Given the description of an element on the screen output the (x, y) to click on. 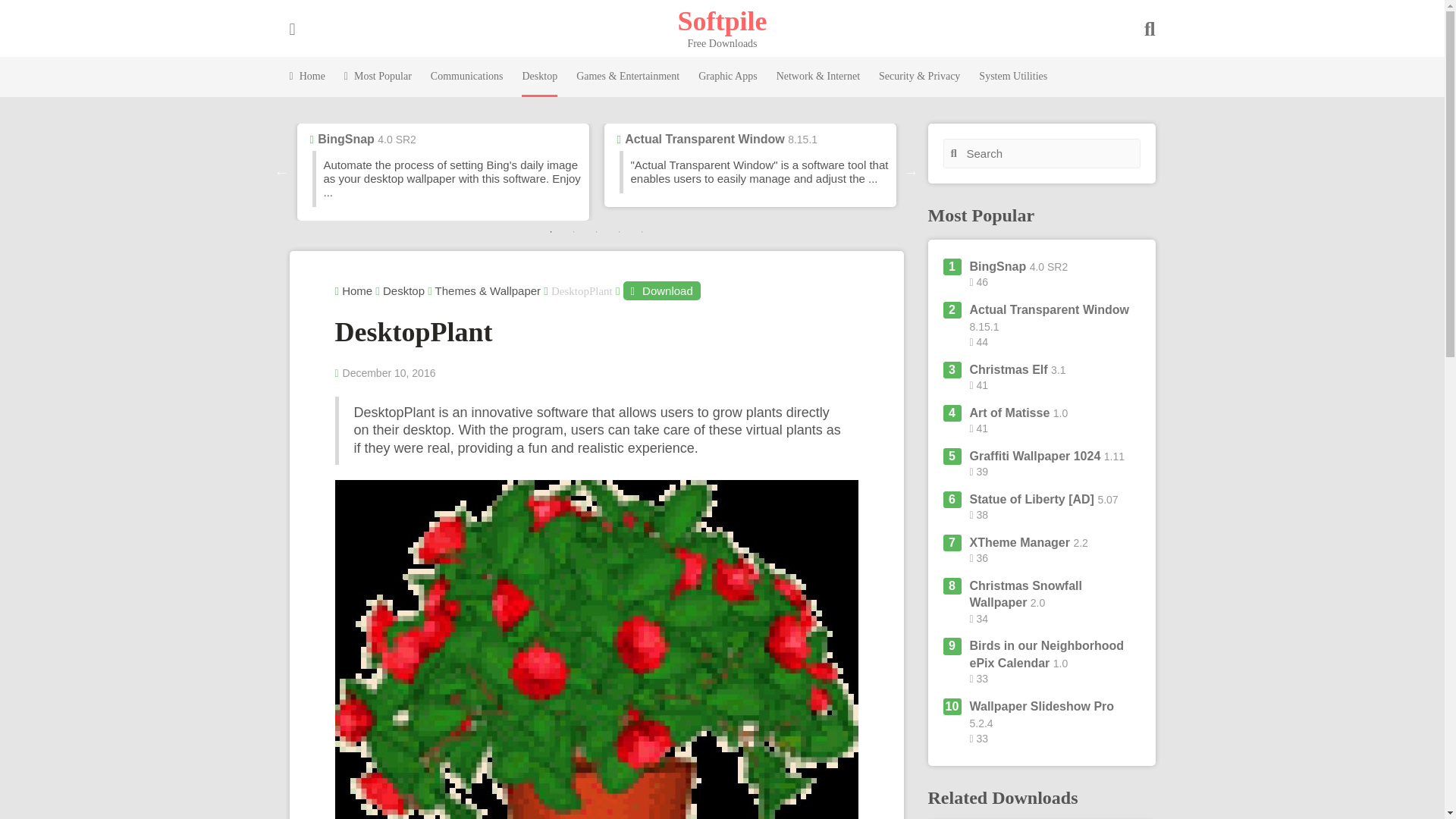
Download DesktopPlant 3.1.4 (661, 290)
Graphic Apps (727, 76)
Communications (466, 76)
Softpile (722, 20)
System Utilities (1012, 76)
BingSnap (345, 138)
Actual Transparent Window (704, 138)
Most Popular (377, 76)
Free Downloads (722, 20)
PREVIOUS (282, 171)
